Given the description of an element on the screen output the (x, y) to click on. 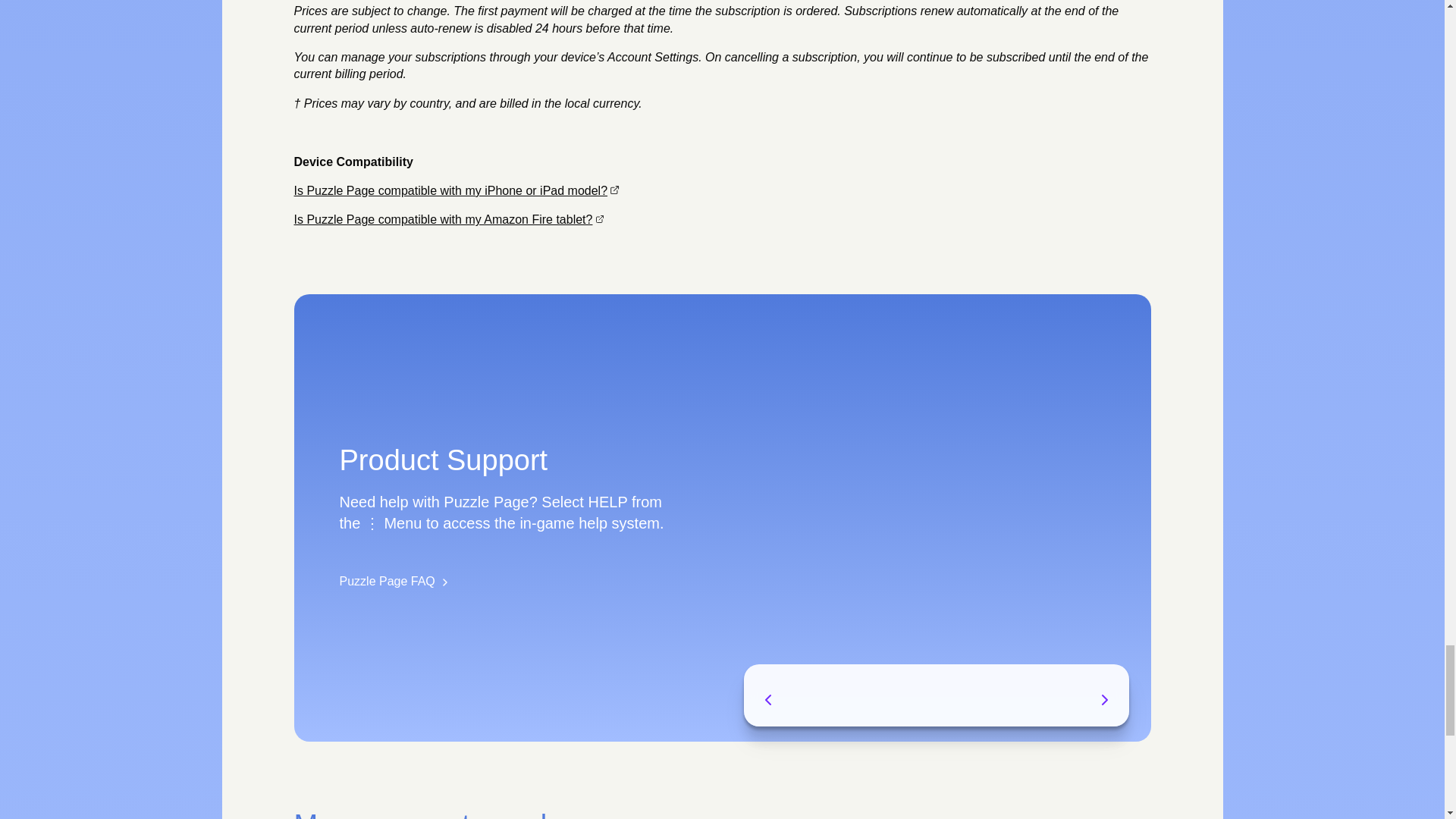
Is Puzzle Page compatible with my iPhone or iPad model? (457, 190)
Puzzle Page FAQ (395, 581)
Is Puzzle Page compatible with my Amazon Fire tablet? (449, 219)
